Given the description of an element on the screen output the (x, y) to click on. 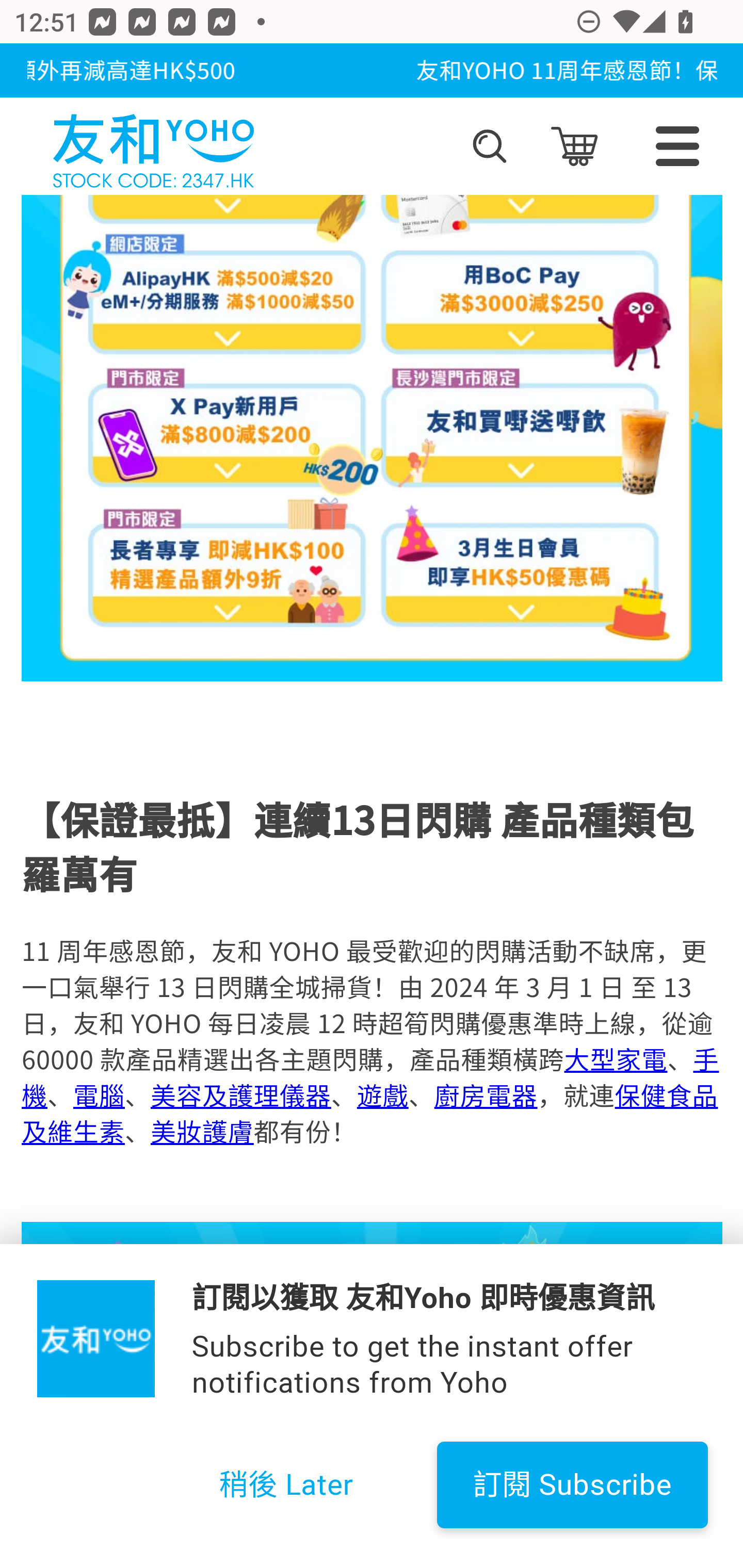
cart (574, 146)
友和 YOHO (153, 146)
手機 (370, 1077)
大型家電 (615, 1059)
保健食品及維生素 (369, 1113)
電腦 (99, 1095)
美容及護理儀器 (240, 1095)
遊戲 (382, 1095)
廚房電器 (485, 1095)
美妝護膚 (201, 1131)
flashdeal 1708889152547040623 (372, 1394)
